Given the description of an element on the screen output the (x, y) to click on. 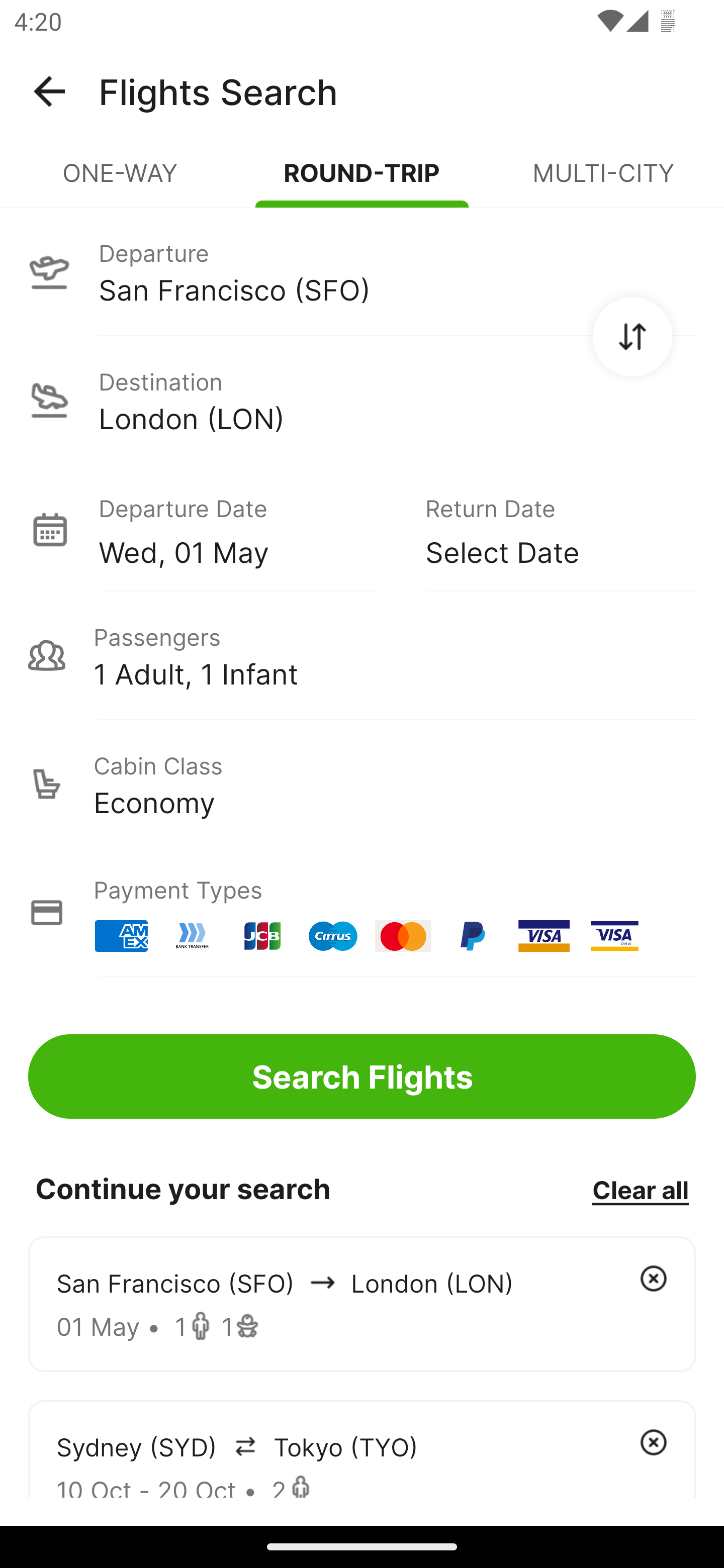
ONE-WAY (120, 180)
ROUND-TRIP (361, 180)
MULTI-CITY (603, 180)
Departure San Francisco (SFO) (362, 270)
Destination London (LON) (362, 400)
Departure Date Wed, 01 May (247, 528)
Return Date Select Date (546, 528)
Passengers 1 Adult, 1 Infant (362, 655)
Cabin Class Economy (362, 783)
Payment Types (362, 912)
Search Flights (361, 1075)
Clear all (640, 1189)
